Given the description of an element on the screen output the (x, y) to click on. 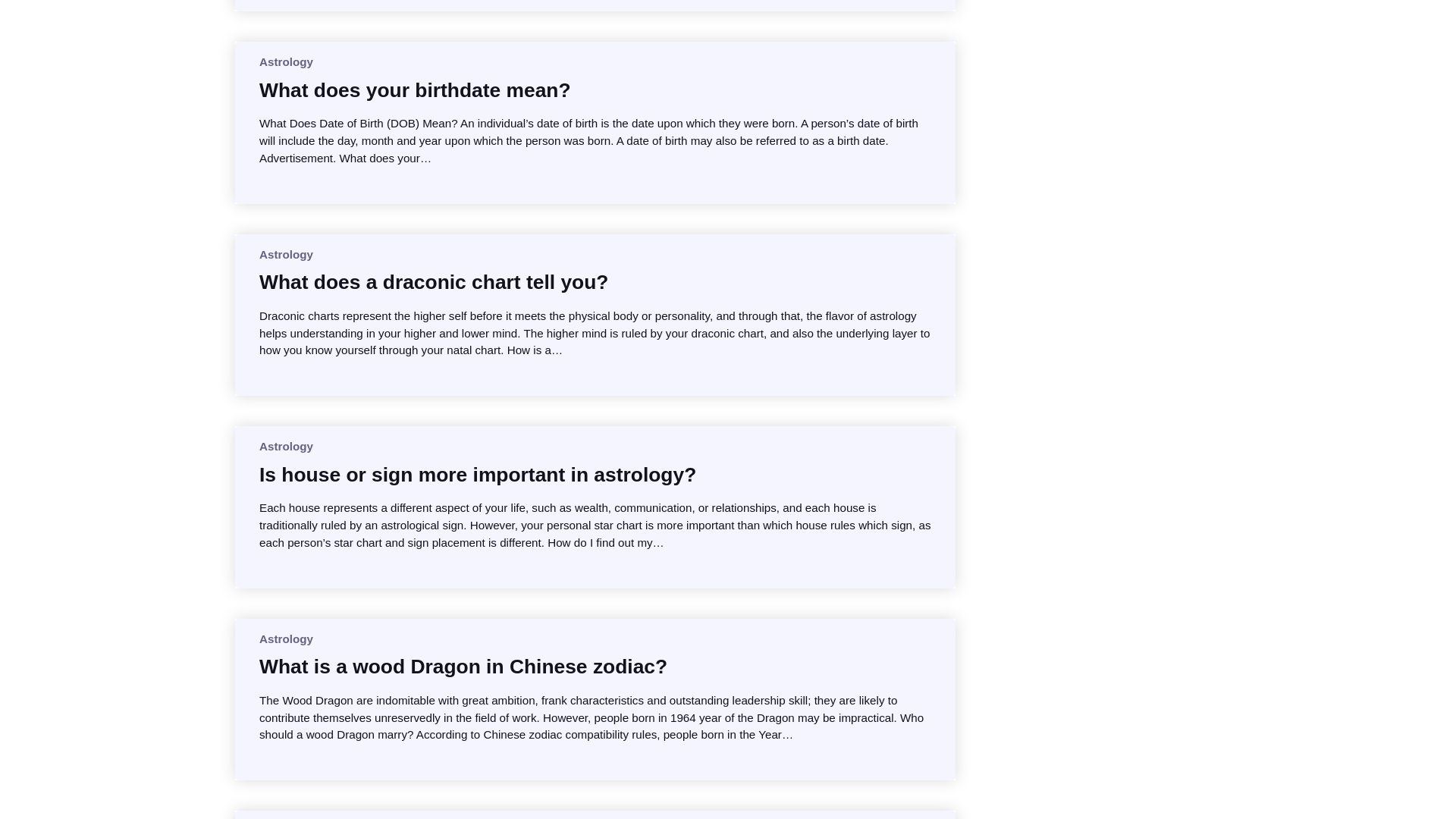
What does a draconic chart tell you? (433, 281)
Astrology (286, 445)
Astrology (286, 638)
What is a wood Dragon in Chinese zodiac? (462, 666)
What does your birthdate mean? (414, 89)
Is house or sign more important in astrology? (477, 474)
Astrology (286, 61)
Astrology (286, 254)
